Given the description of an element on the screen output the (x, y) to click on. 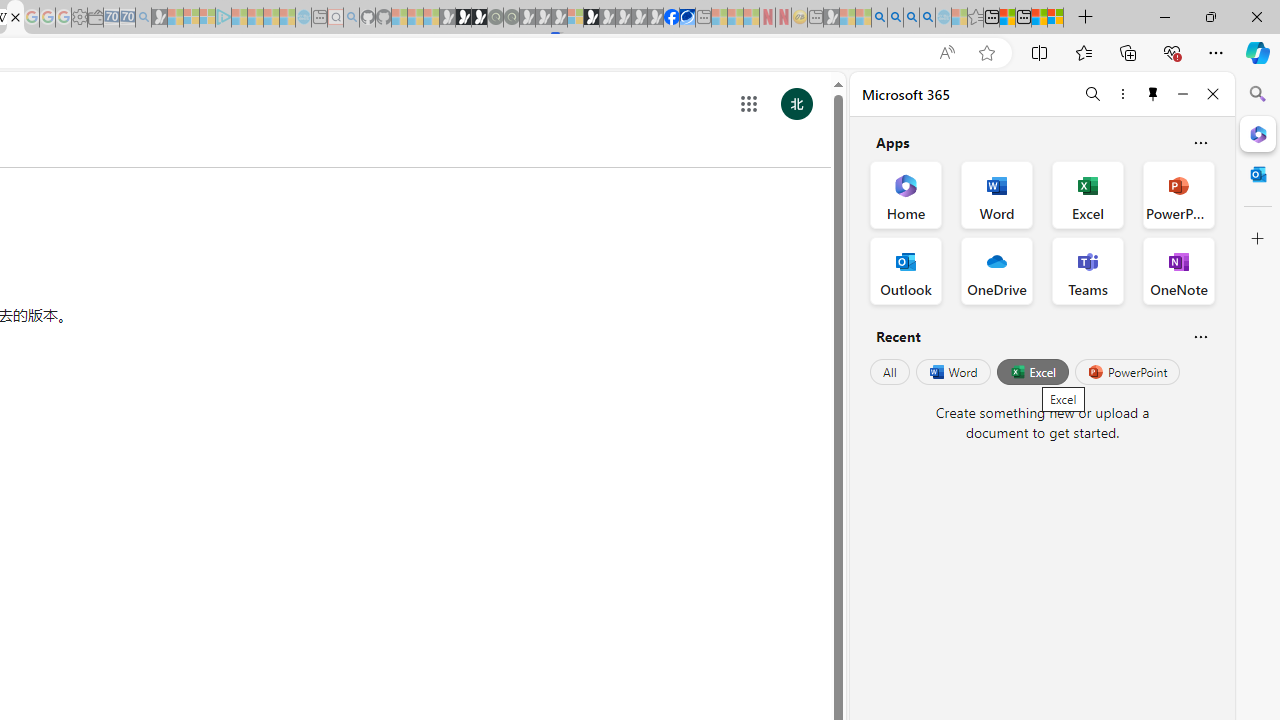
2009 Bing officially replaced Live Search on June 3 - Search (895, 17)
Aberdeen, Hong Kong SAR weather forecast | Microsoft Weather (1007, 17)
Excel (1031, 372)
Unpin side pane (1153, 93)
AirNow.gov (687, 17)
OneDrive Office App (996, 270)
PowerPoint (1127, 372)
Class: gb_E (749, 103)
